Given the description of an element on the screen output the (x, y) to click on. 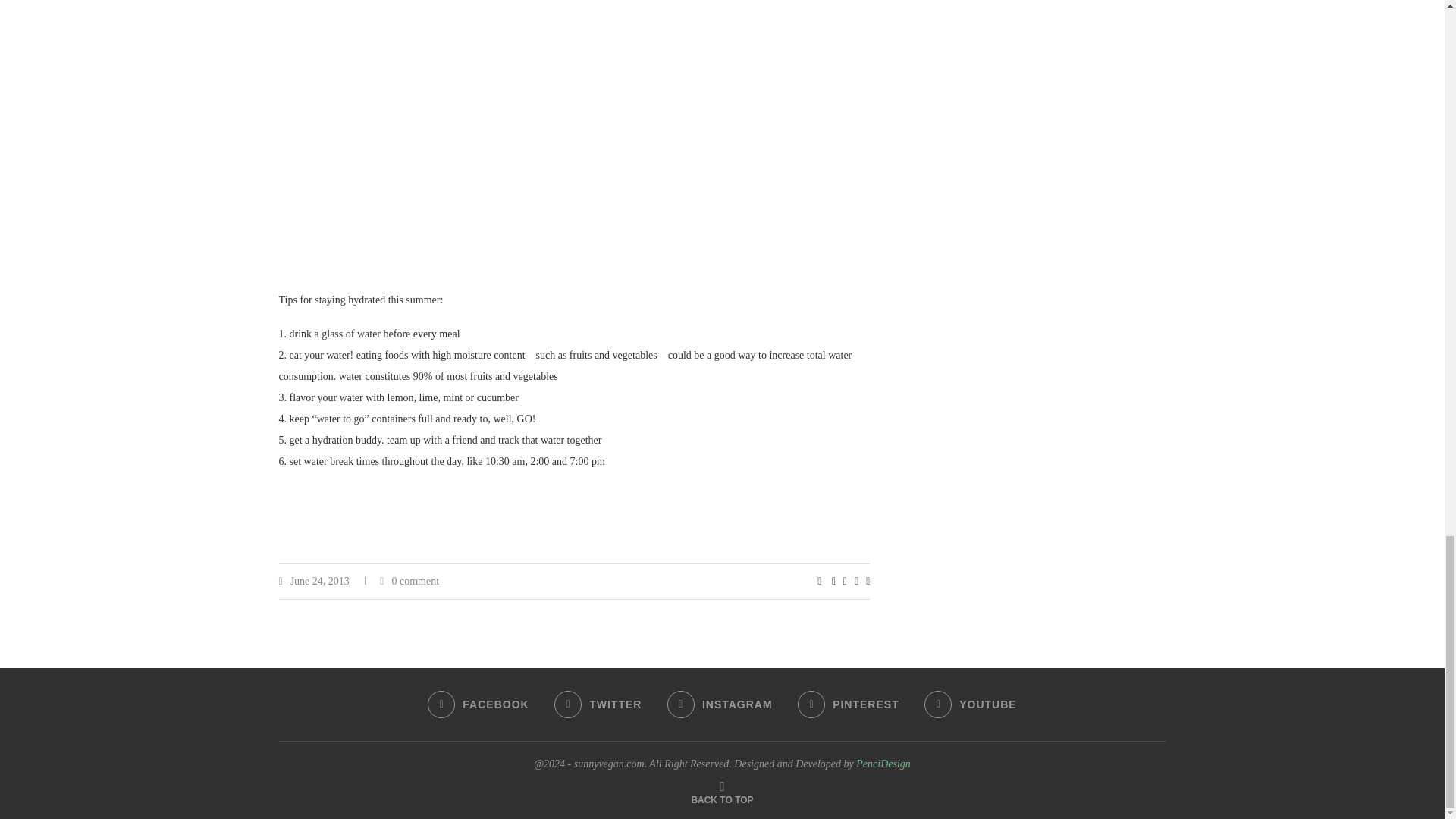
0 comment (409, 581)
FACEBOOK (478, 704)
PINTEREST (848, 704)
YOUTUBE (970, 704)
INSTAGRAM (719, 704)
TWITTER (598, 704)
